Given the description of an element on the screen output the (x, y) to click on. 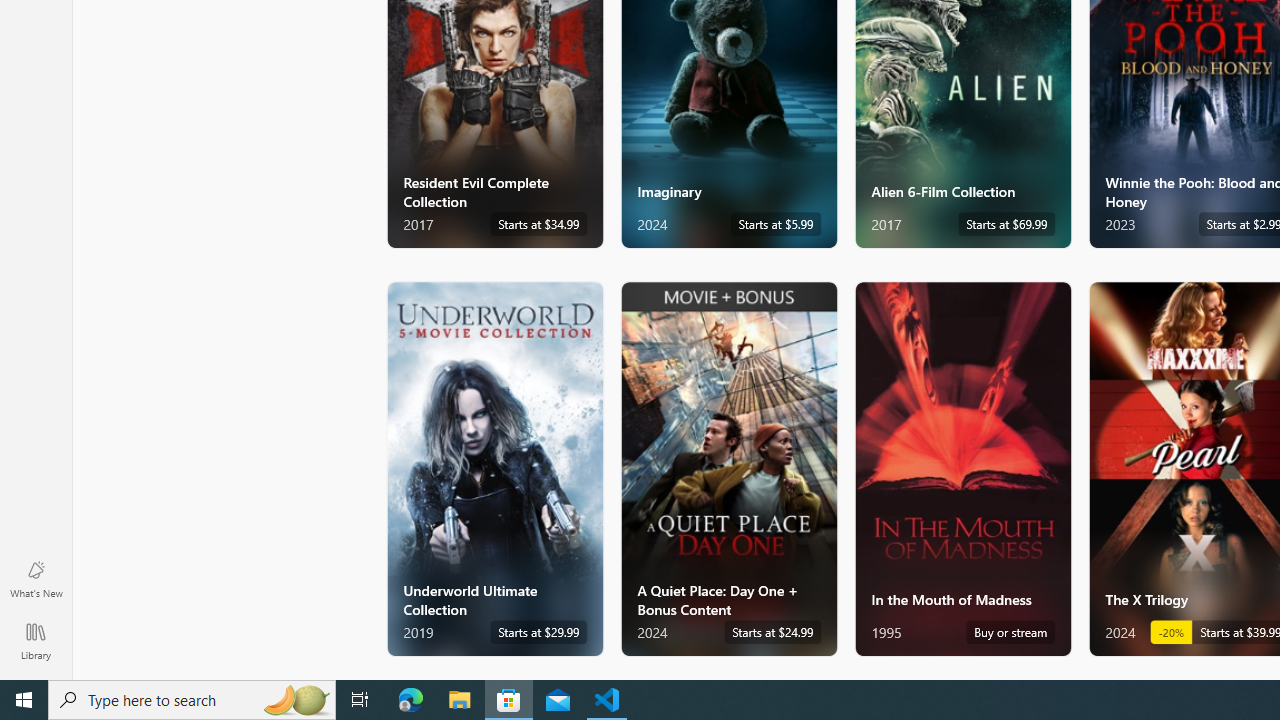
A Quiet Place: Day One + Bonus Content. Starts at $24.99   (728, 468)
What's New (35, 578)
Library (35, 640)
